Given the description of an element on the screen output the (x, y) to click on. 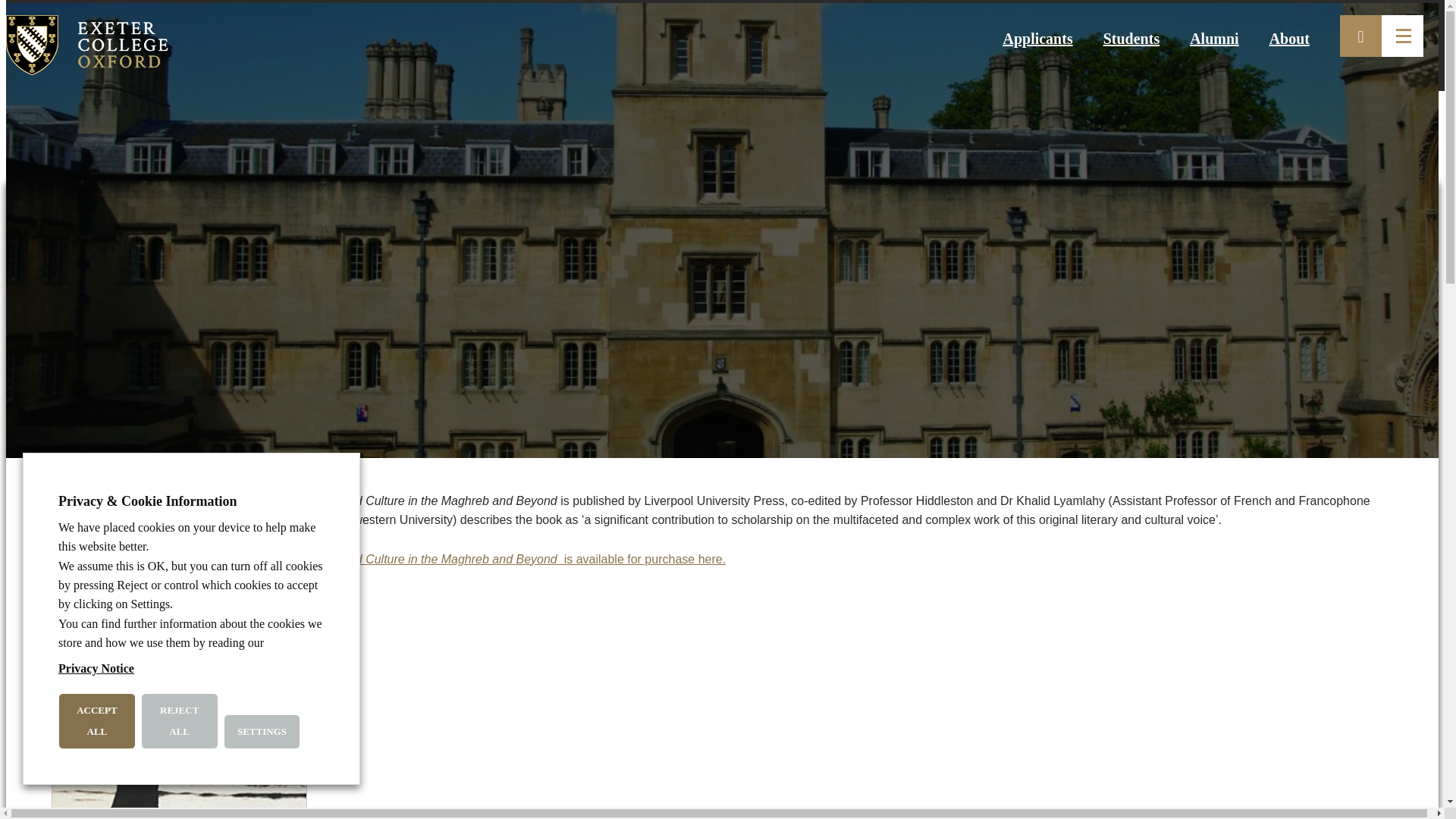
About (1288, 38)
Students (1130, 38)
Applicants (1037, 38)
Alumni (1214, 38)
